Given the description of an element on the screen output the (x, y) to click on. 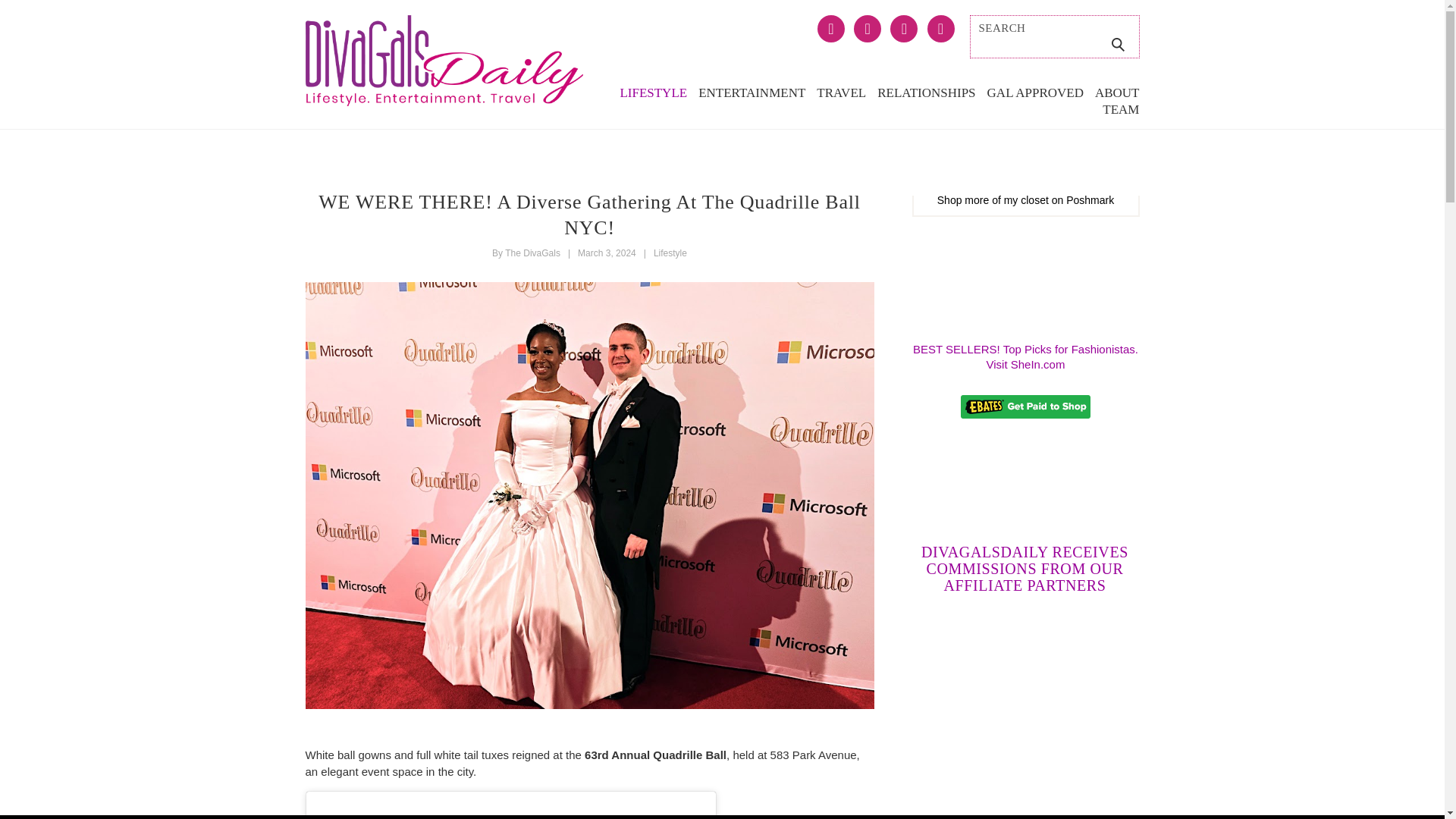
TRAVEL (841, 92)
LIFESTYLE (653, 92)
my closet (1026, 200)
Twitter (863, 29)
Instagram (900, 29)
YouTube (936, 29)
TEAM (1120, 109)
The DivaGals (532, 253)
ABOUT (1117, 92)
ENTERTAINMENT (751, 92)
